Given the description of an element on the screen output the (x, y) to click on. 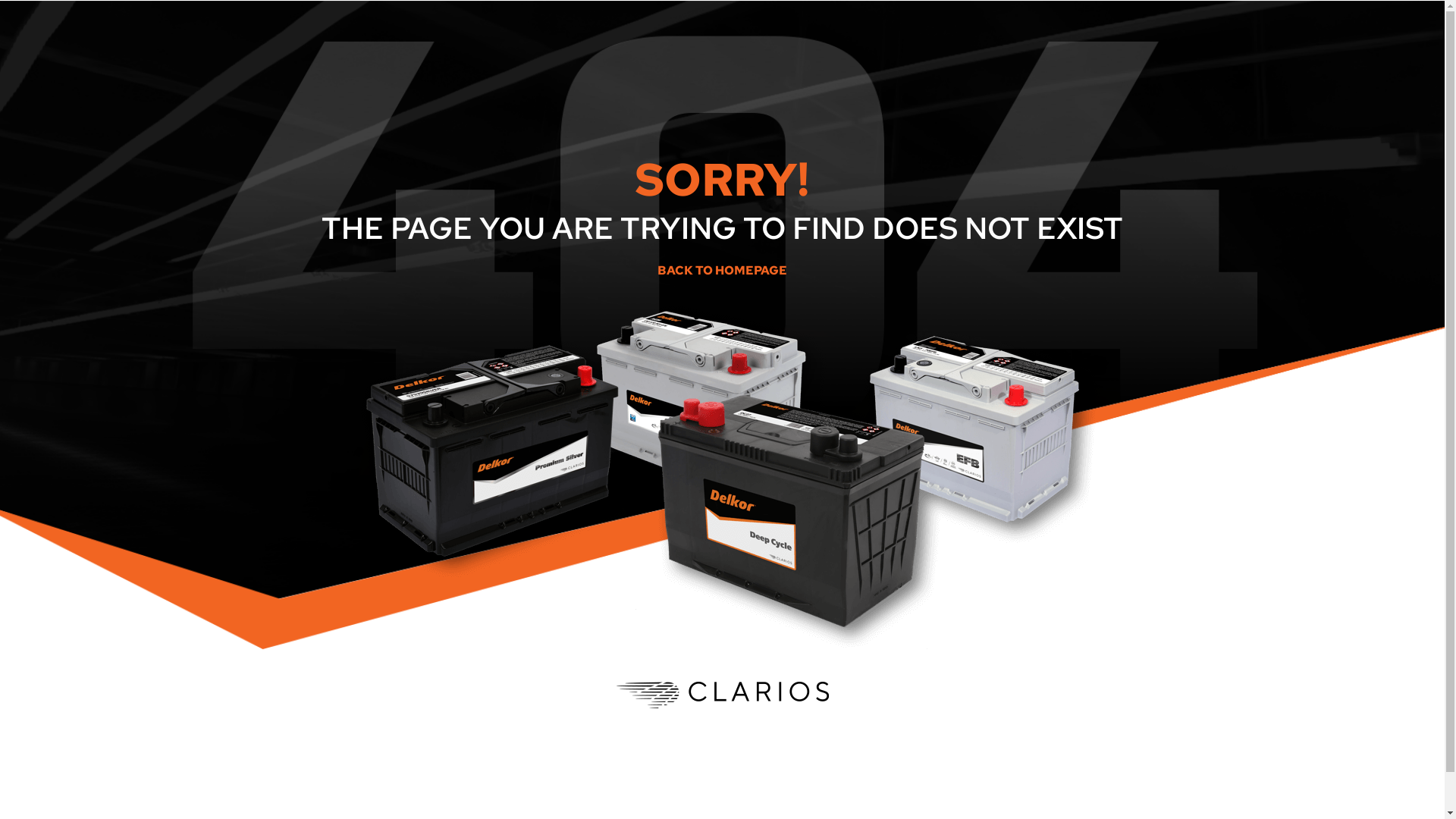
BACK TO HOMEPAGE Element type: text (722, 270)
